Given the description of an element on the screen output the (x, y) to click on. 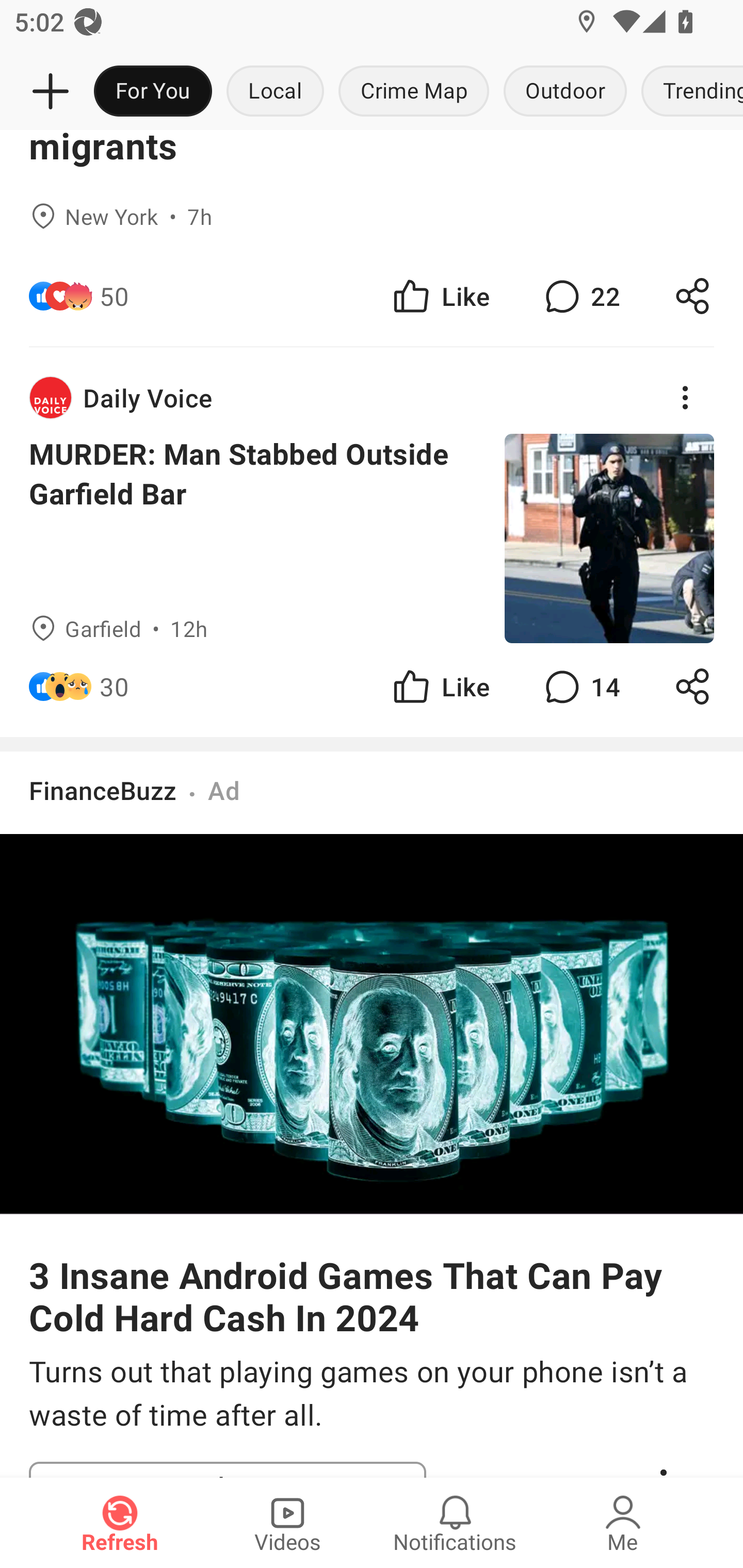
For You (152, 91)
Local (275, 91)
Crime Map (413, 91)
Outdoor (564, 91)
Trending (688, 91)
50 (114, 295)
Like (439, 295)
22 (579, 295)
30 (114, 685)
Like (439, 685)
14 (579, 685)
FinanceBuzz (102, 790)
Videos (287, 1522)
Notifications (455, 1522)
Me (622, 1522)
